Given the description of an element on the screen output the (x, y) to click on. 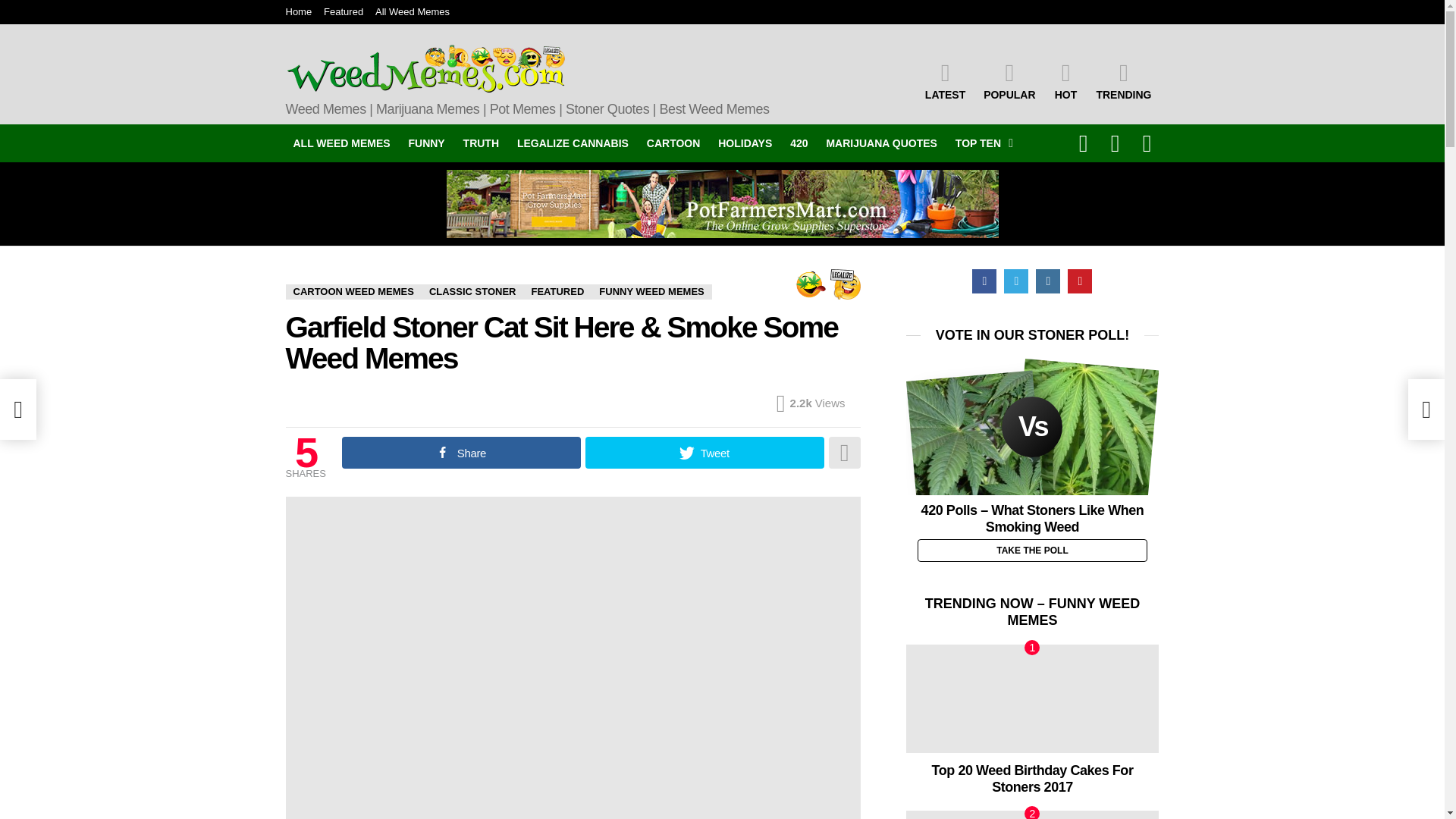
Featured (342, 12)
420 (799, 142)
HOLIDAYS (744, 142)
ALL WEED MEMES (341, 142)
All Weed Memes (412, 12)
TRENDING (1122, 80)
TOP TEN (980, 142)
TRUTH (480, 142)
Marijuana Growing Supplies Grow Cannabis (721, 203)
POPULAR (1008, 80)
